Given the description of an element on the screen output the (x, y) to click on. 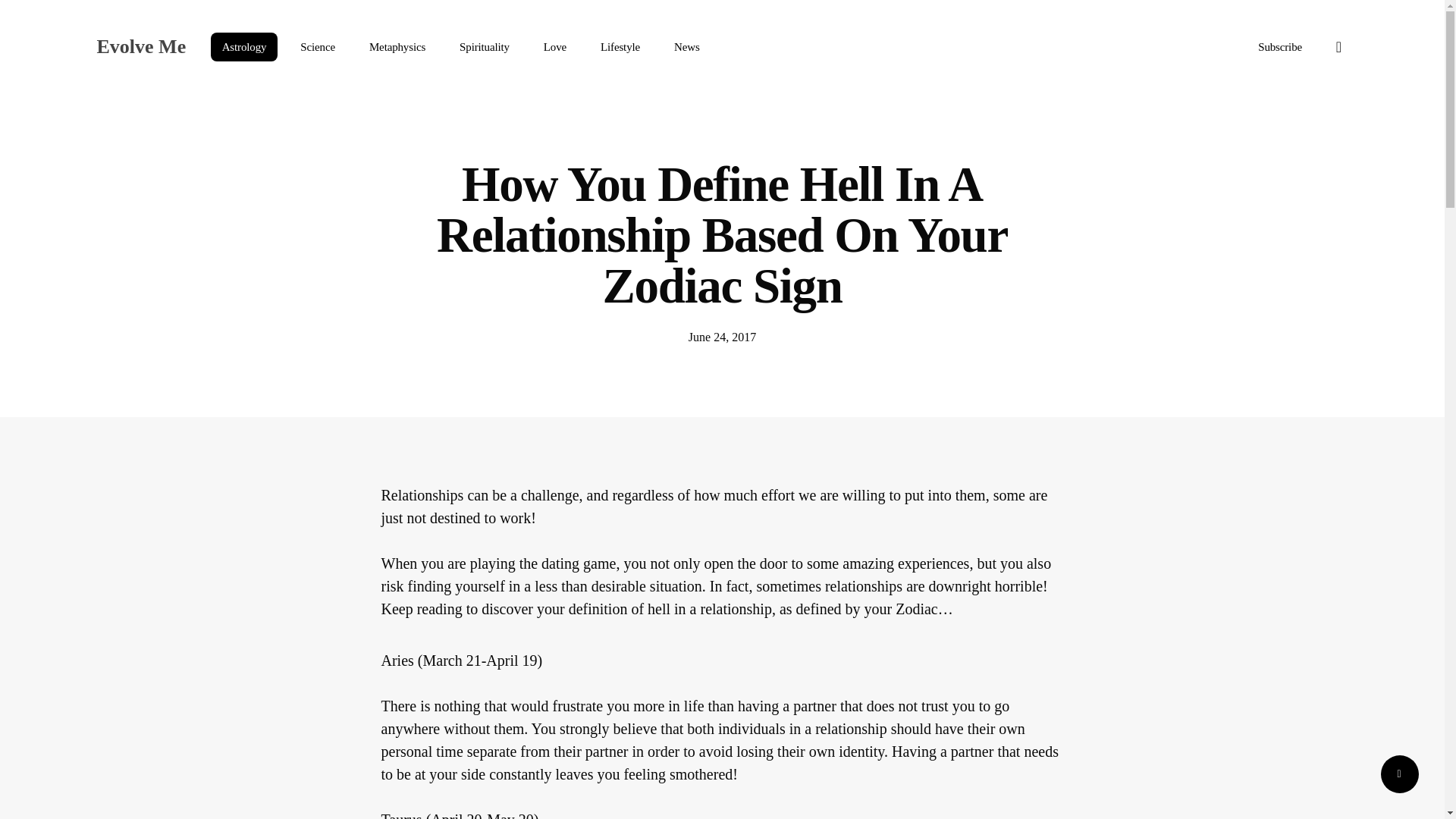
Subscribe (1279, 46)
Love (555, 46)
search (1339, 47)
Astrology (244, 46)
Spirituality (484, 46)
Science (317, 46)
Lifestyle (619, 46)
Evolve Me (141, 46)
News (686, 46)
Metaphysics (397, 46)
